Given the description of an element on the screen output the (x, y) to click on. 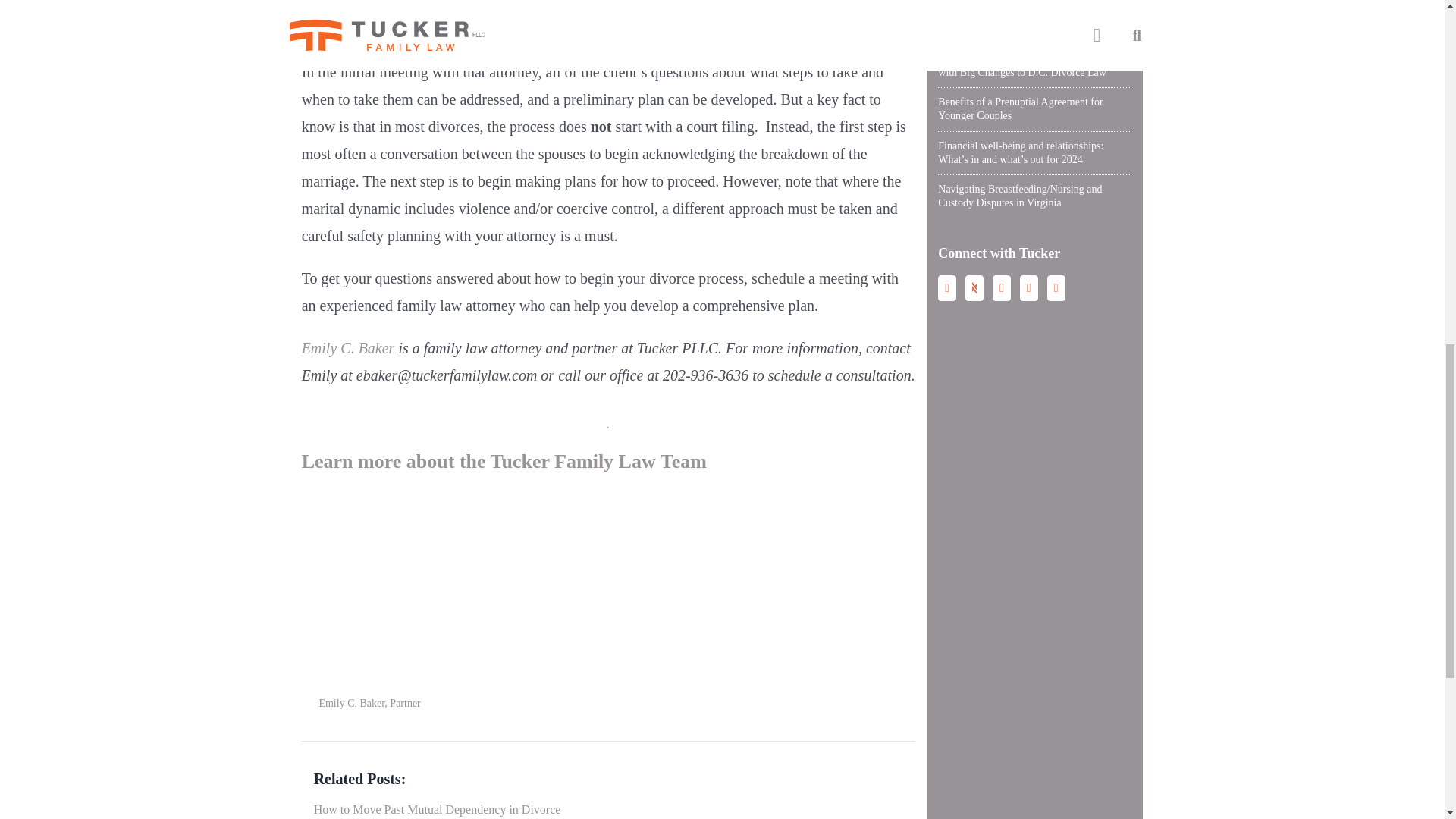
How to Move Past Mutual Dependency in Divorce (437, 809)
